Given the description of an element on the screen output the (x, y) to click on. 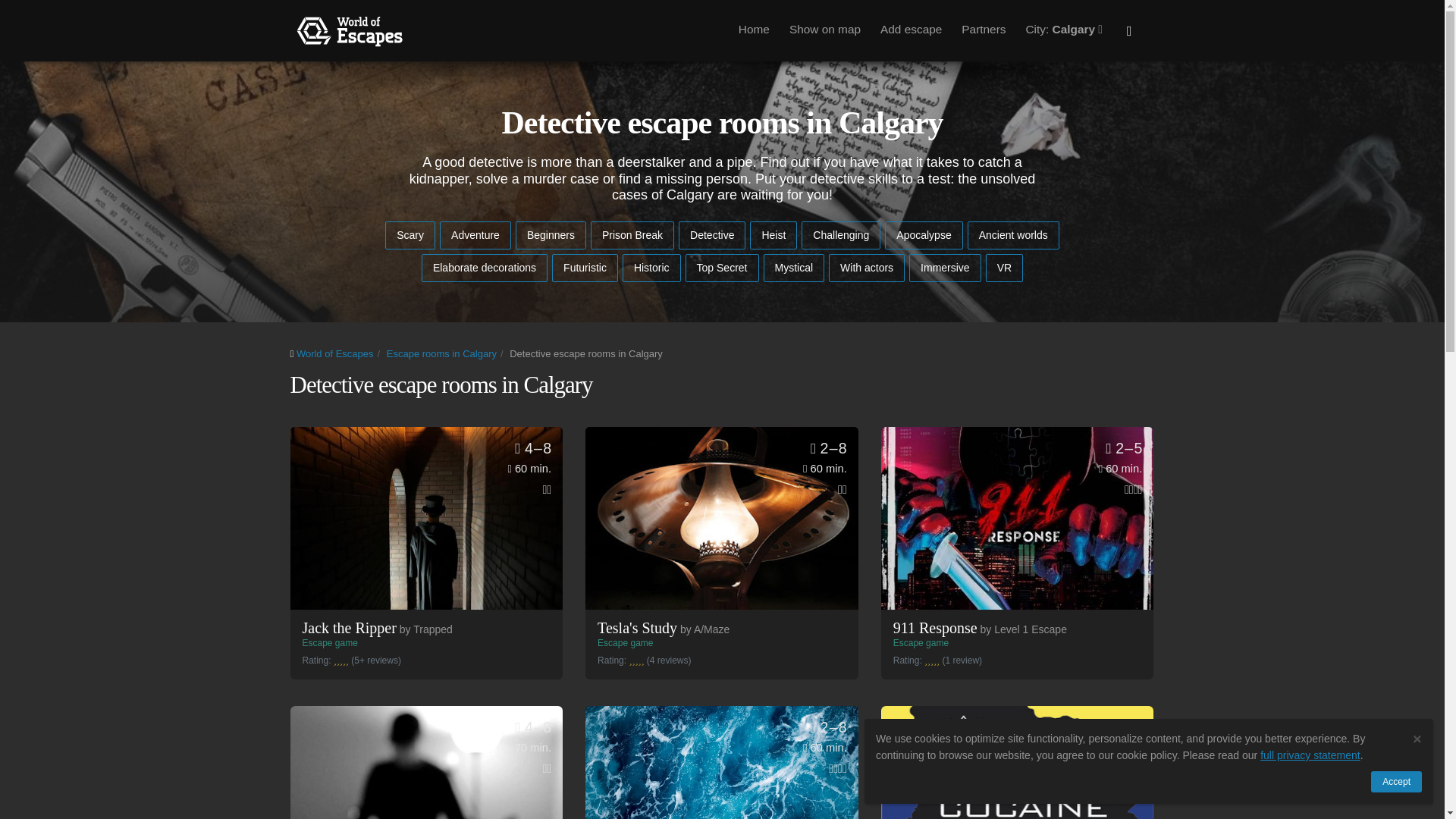
Jack the Ripper (425, 517)
Heist (772, 235)
City: Calgary (1065, 29)
Detective (711, 235)
Jack the Ripper (348, 627)
Adventure (475, 235)
Home (934, 30)
Tesla's Study (753, 29)
Ancient worlds (636, 627)
Challenging (1013, 235)
Level 1 Escape (841, 235)
Jack the Ripper (1023, 629)
911 Response (425, 517)
Scary (1017, 517)
